Given the description of an element on the screen output the (x, y) to click on. 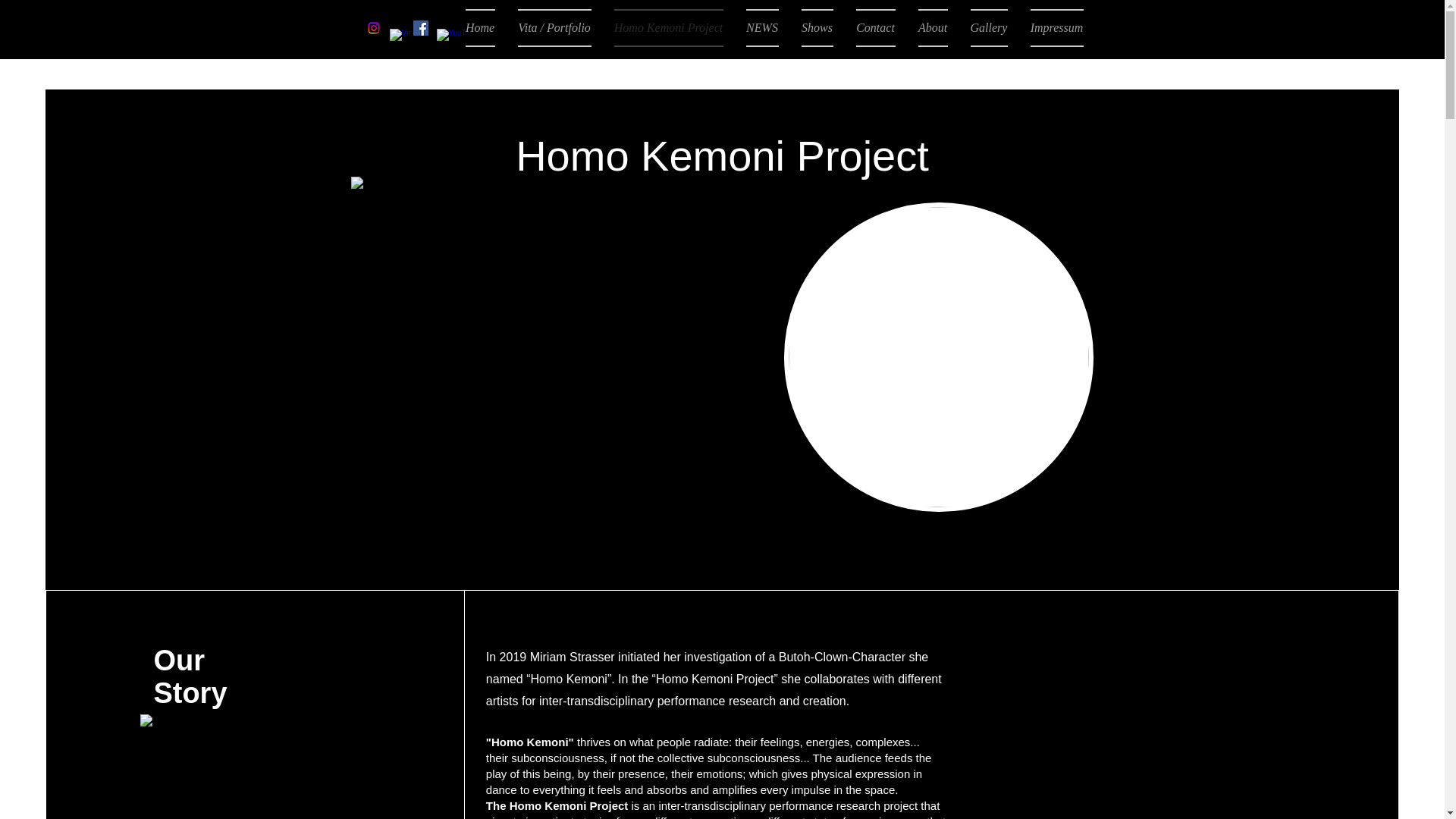
About (933, 27)
NEWS (761, 27)
Home (485, 27)
Impressum (1051, 27)
Shows (817, 27)
Contact (875, 27)
Homo Kemoni Project (667, 27)
Gallery (987, 27)
